Given the description of an element on the screen output the (x, y) to click on. 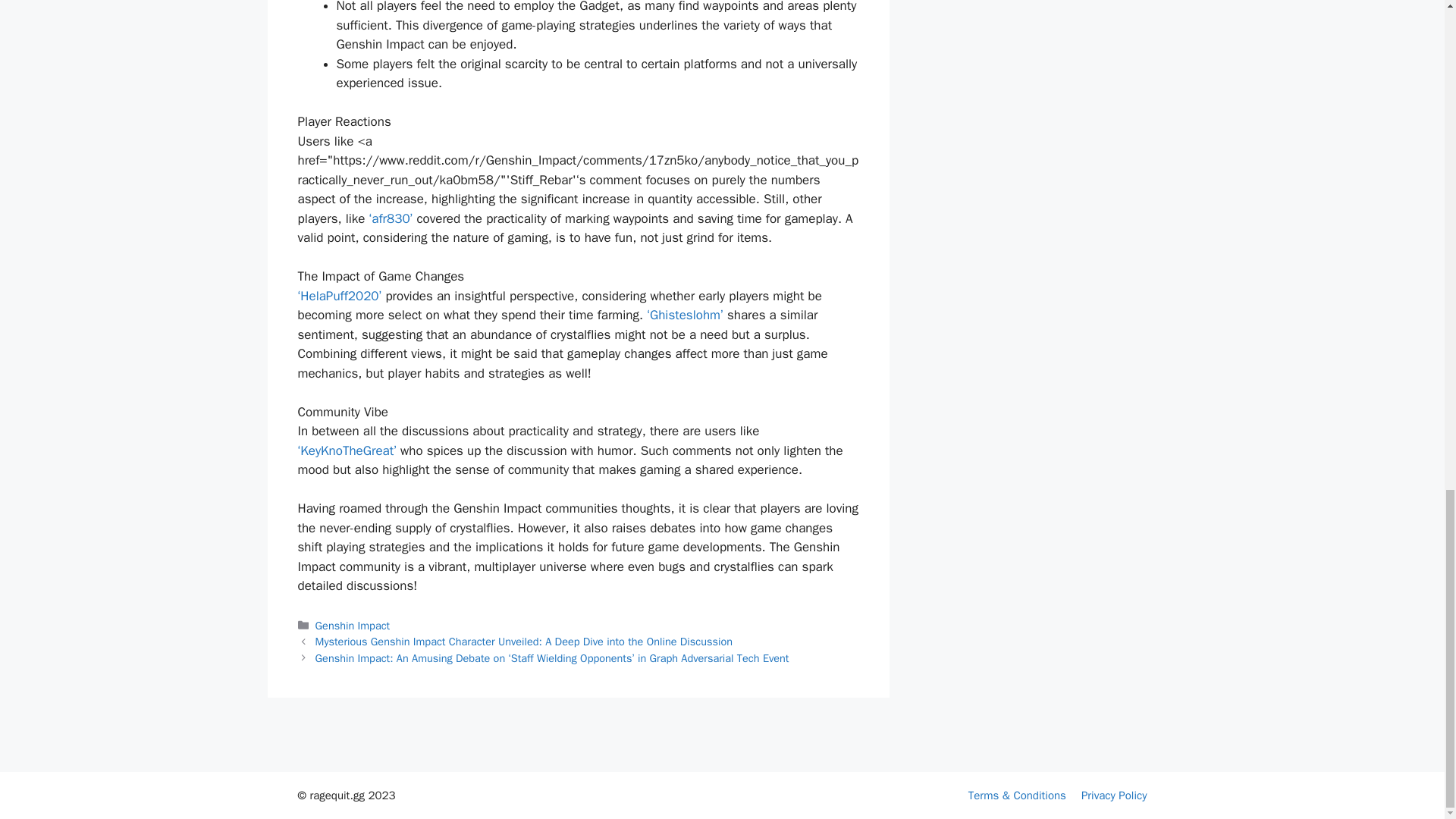
Privacy Policy (1114, 795)
Genshin Impact (352, 625)
